Given the description of an element on the screen output the (x, y) to click on. 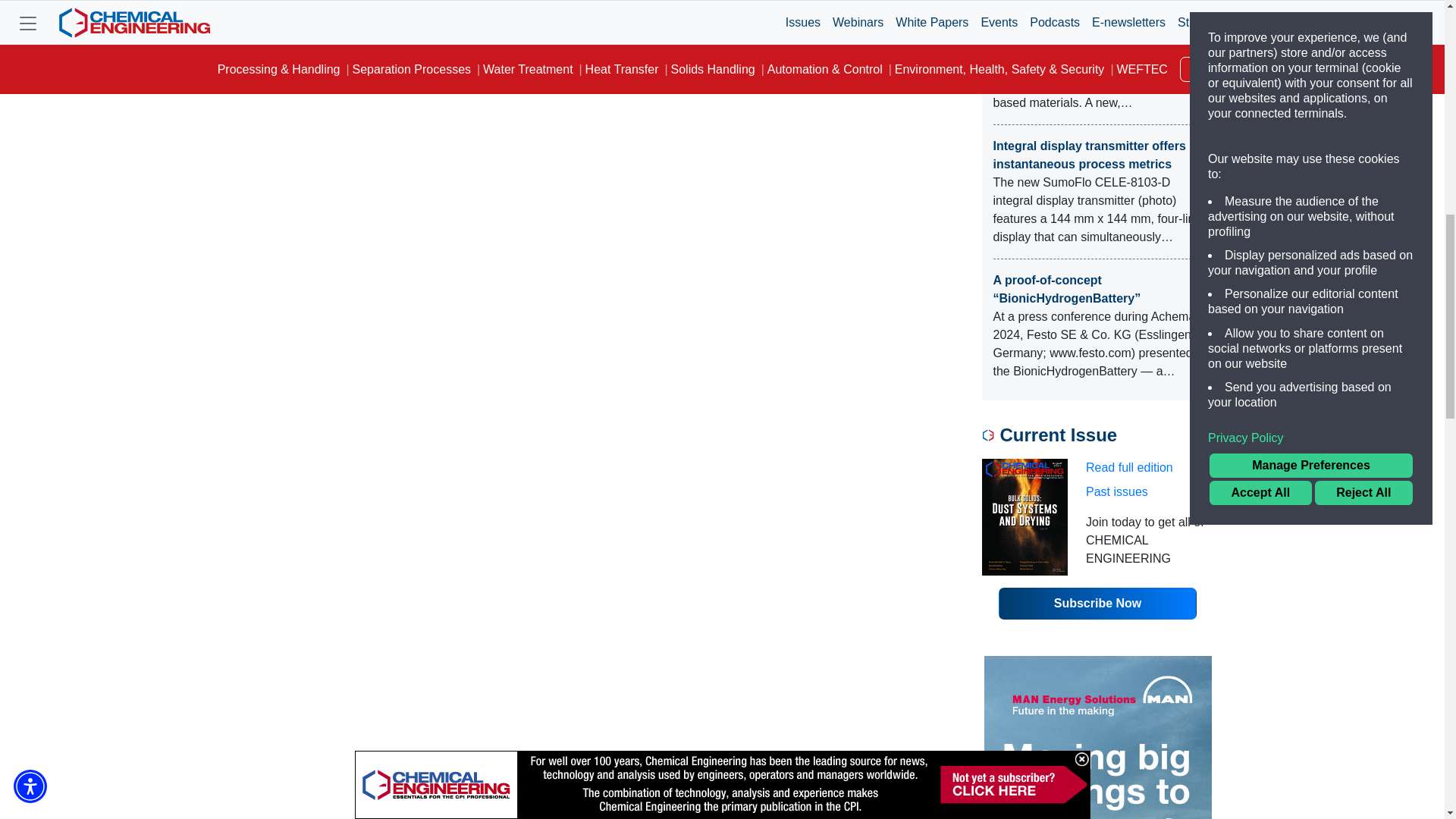
3rd party ad content (1097, 737)
